Given the description of an element on the screen output the (x, y) to click on. 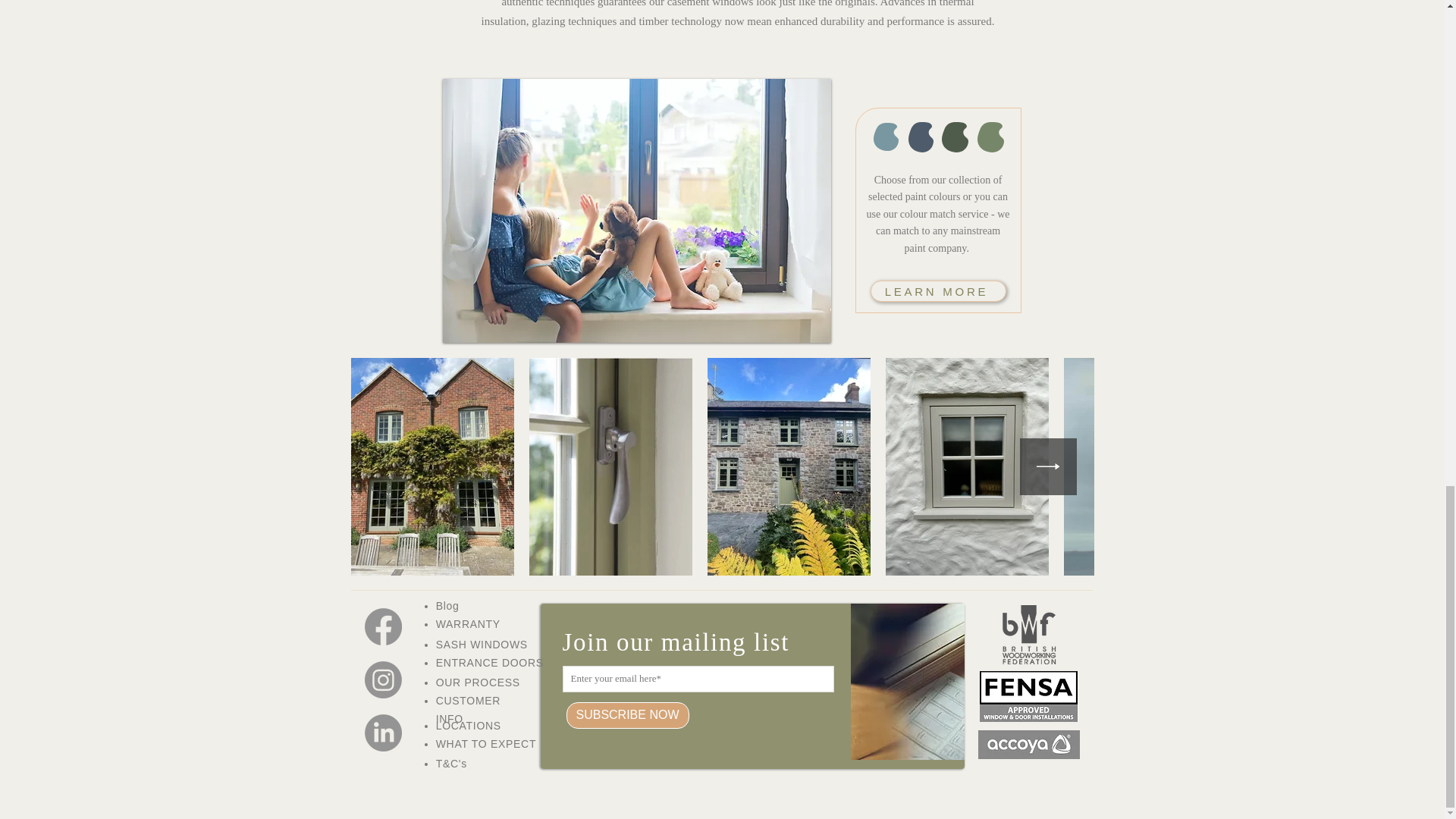
LEARN MORE (938, 291)
